Given the description of an element on the screen output the (x, y) to click on. 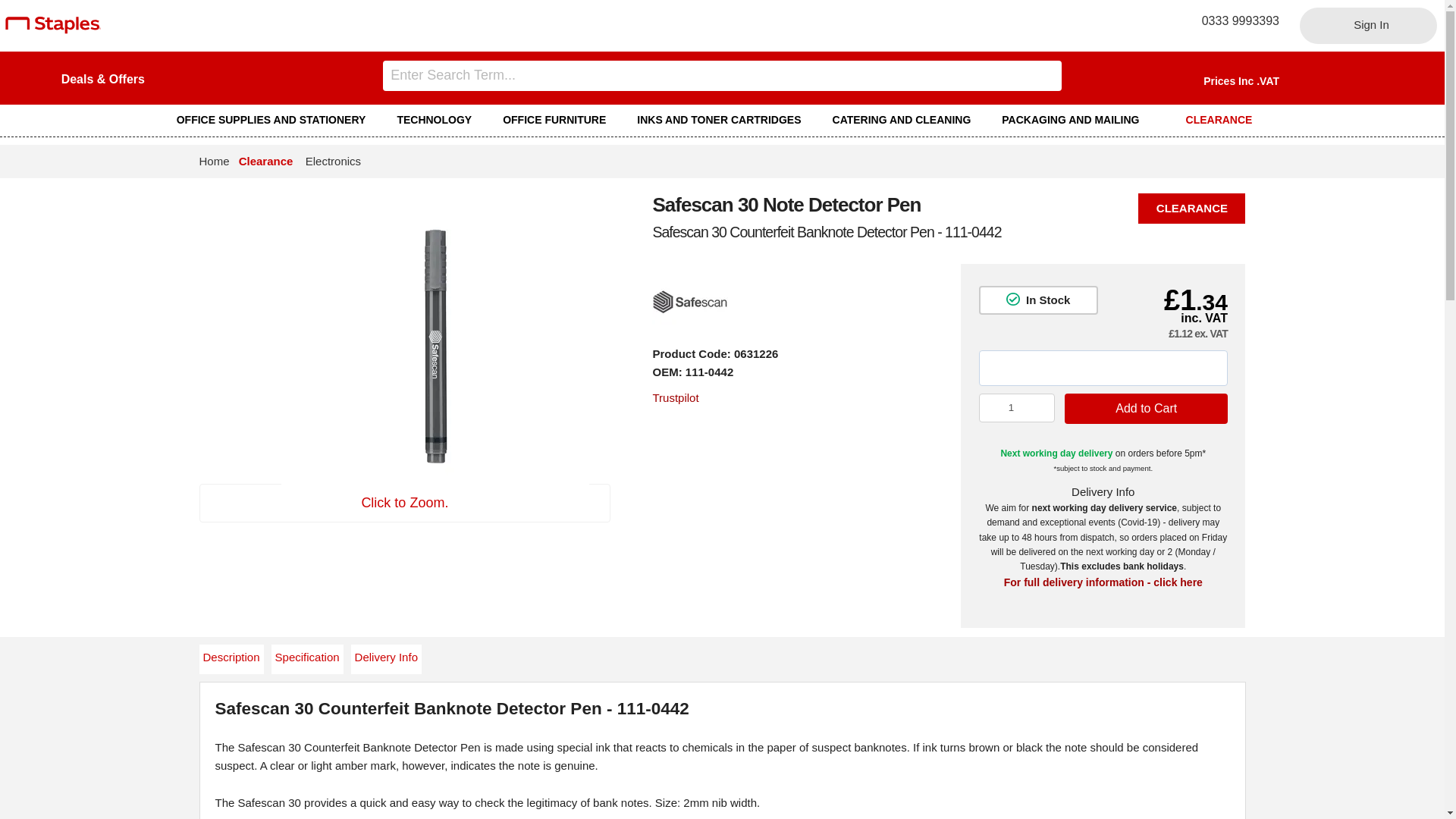
Telephone: 0333 9993393 (1235, 20)
Prices Inc .VAT (1241, 80)
1 (1016, 407)
 0333 9993393 (1235, 20)
Type keyword or product code (721, 75)
OFFICE SUPPLIES AND STATIONERY (277, 119)
Coupon Corner (102, 78)
Staples.co.uk (53, 30)
Office Supplies and Stationery Category (277, 119)
